Given the description of an element on the screen output the (x, y) to click on. 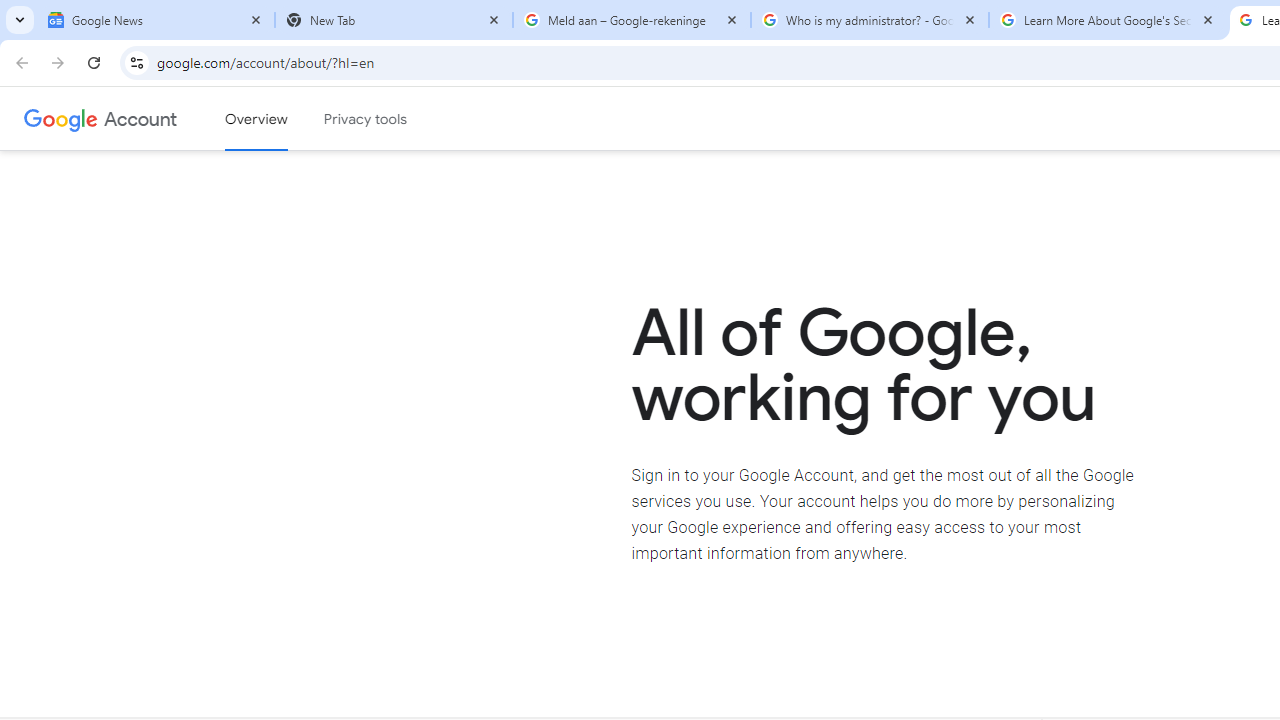
New Tab (394, 20)
Google Account (140, 118)
Privacy tools (365, 119)
